Given the description of an element on the screen output the (x, y) to click on. 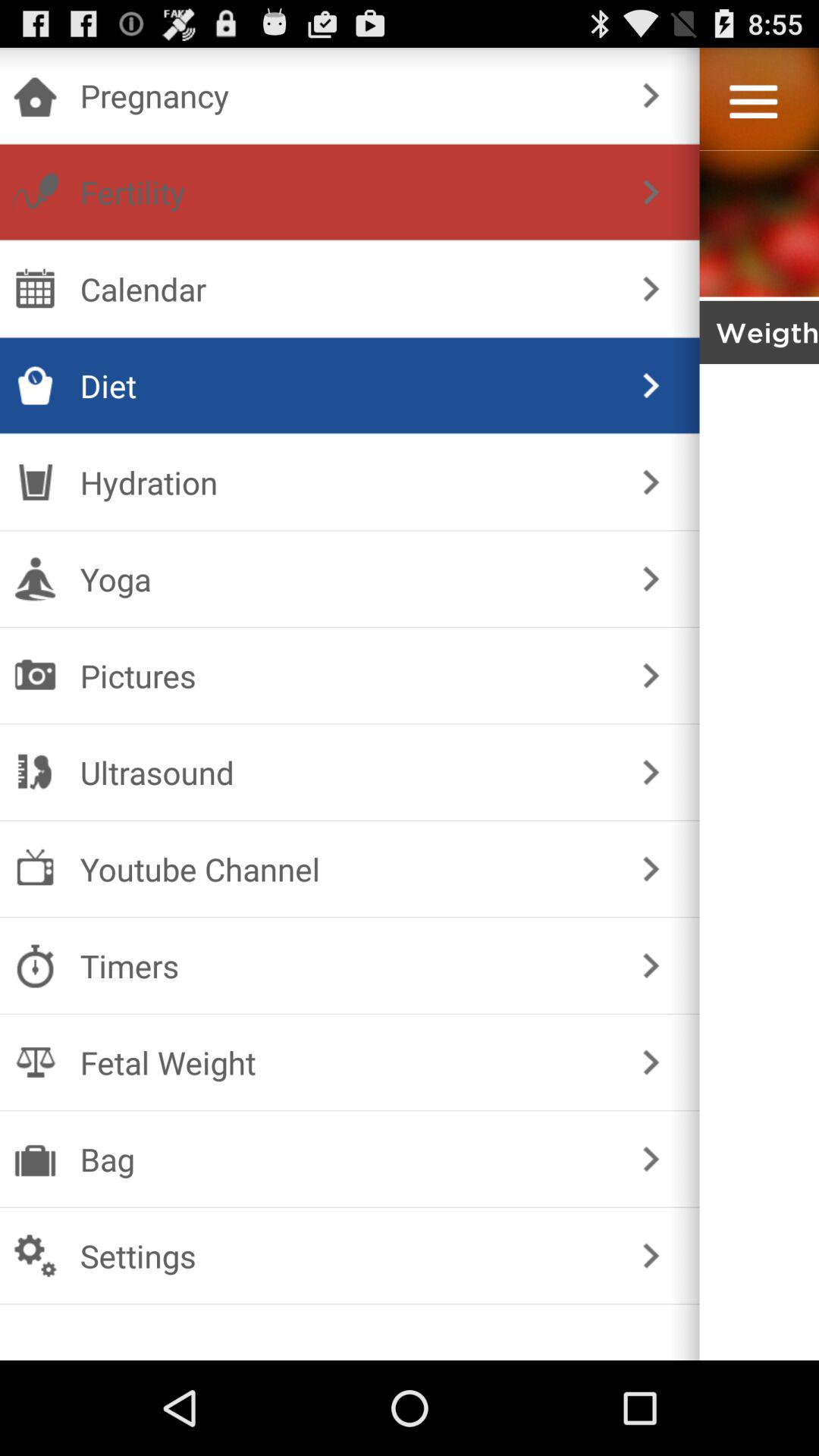
flip until the yoga checkbox (346, 578)
